Given the description of an element on the screen output the (x, y) to click on. 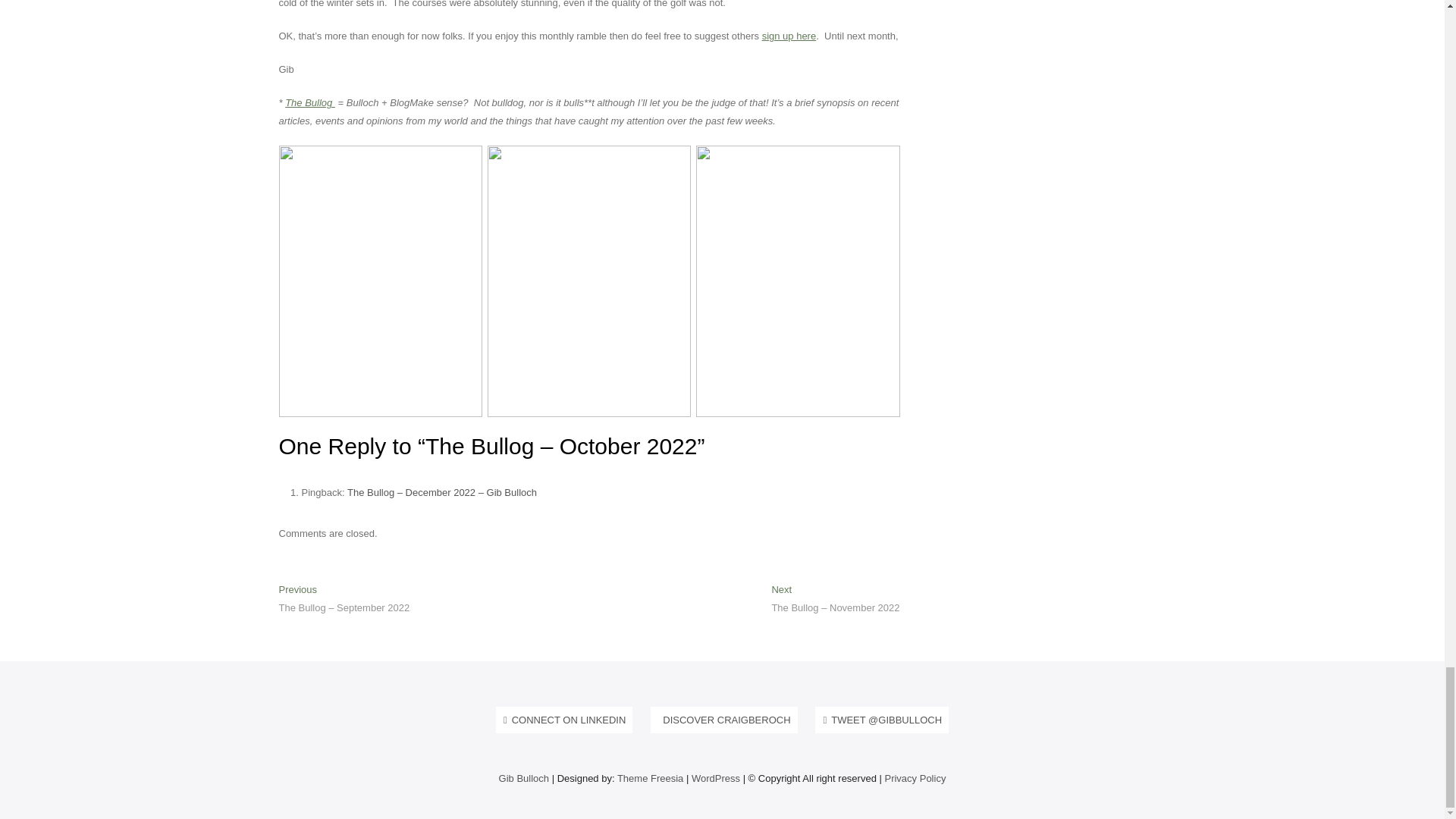
Theme Freesia (649, 778)
Gib Bulloch (523, 778)
WordPress (715, 778)
